Given the description of an element on the screen output the (x, y) to click on. 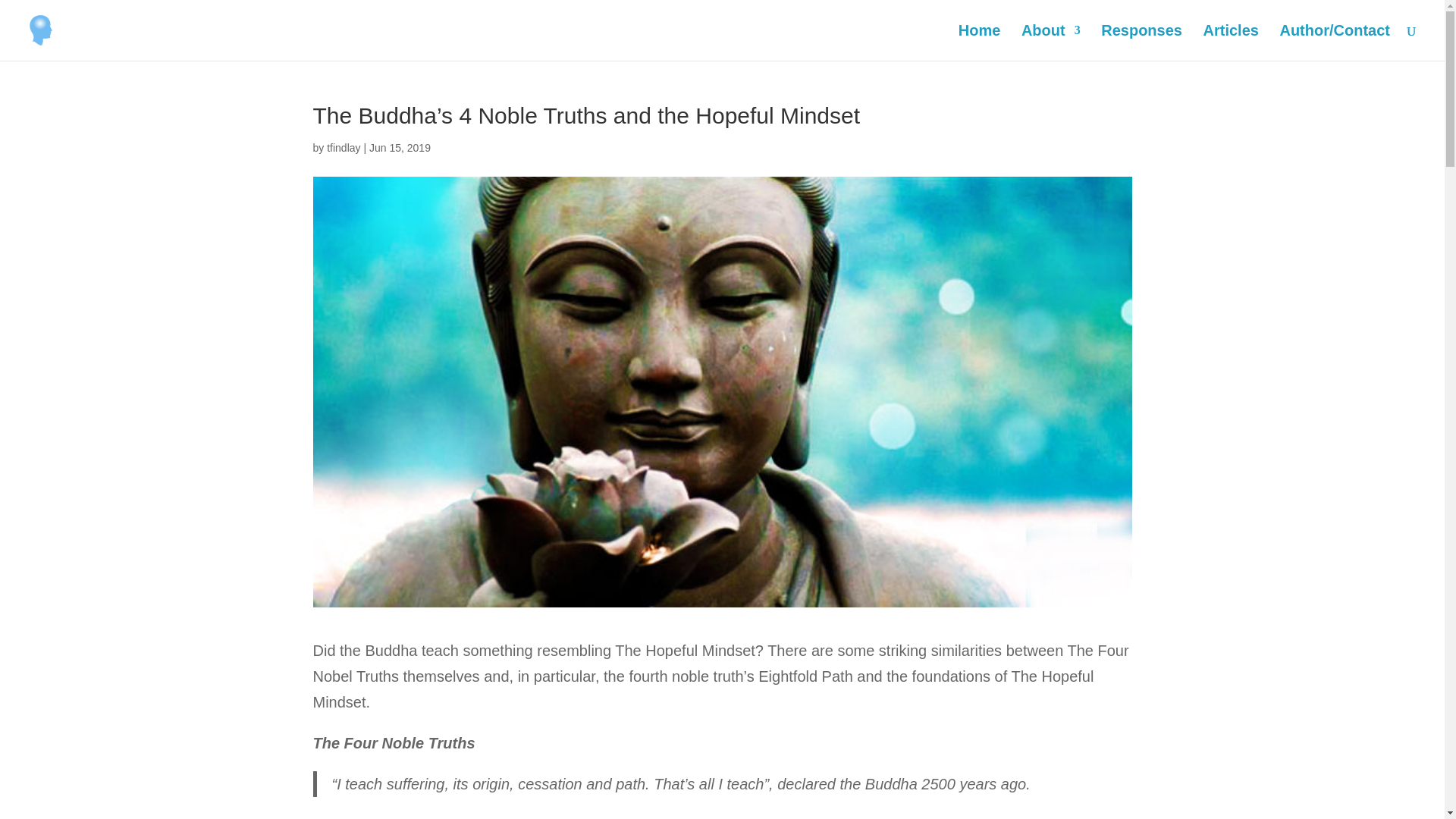
tfindlay (342, 147)
Posts by tfindlay (342, 147)
Responses (1141, 42)
Articles (1231, 42)
About (1051, 42)
Home (979, 42)
